Given the description of an element on the screen output the (x, y) to click on. 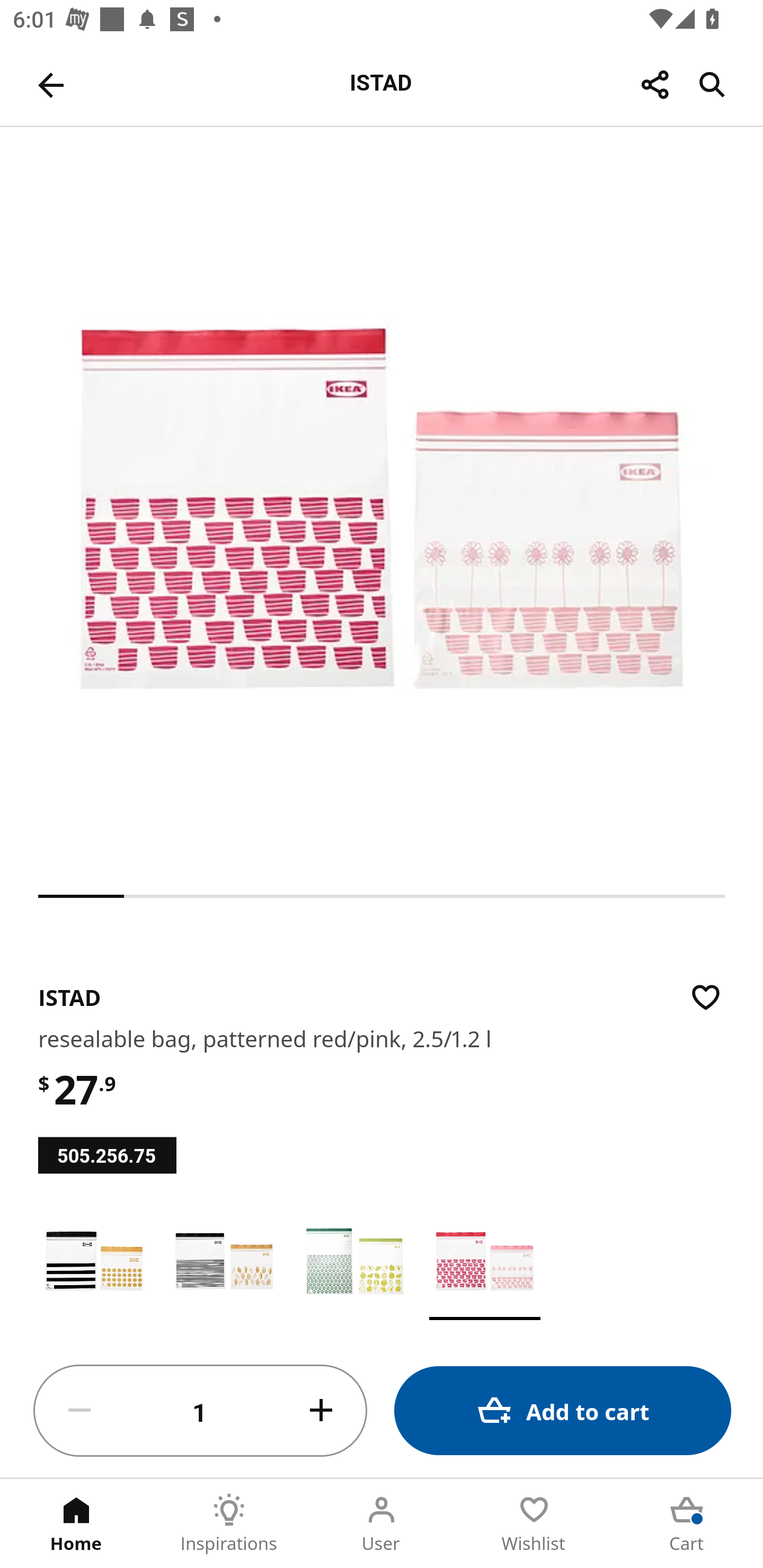
Add to cart (562, 1410)
1 (200, 1411)
Home
Tab 1 of 5 (76, 1522)
Inspirations
Tab 2 of 5 (228, 1522)
User
Tab 3 of 5 (381, 1522)
Wishlist
Tab 4 of 5 (533, 1522)
Cart
Tab 5 of 5 (686, 1522)
